Given the description of an element on the screen output the (x, y) to click on. 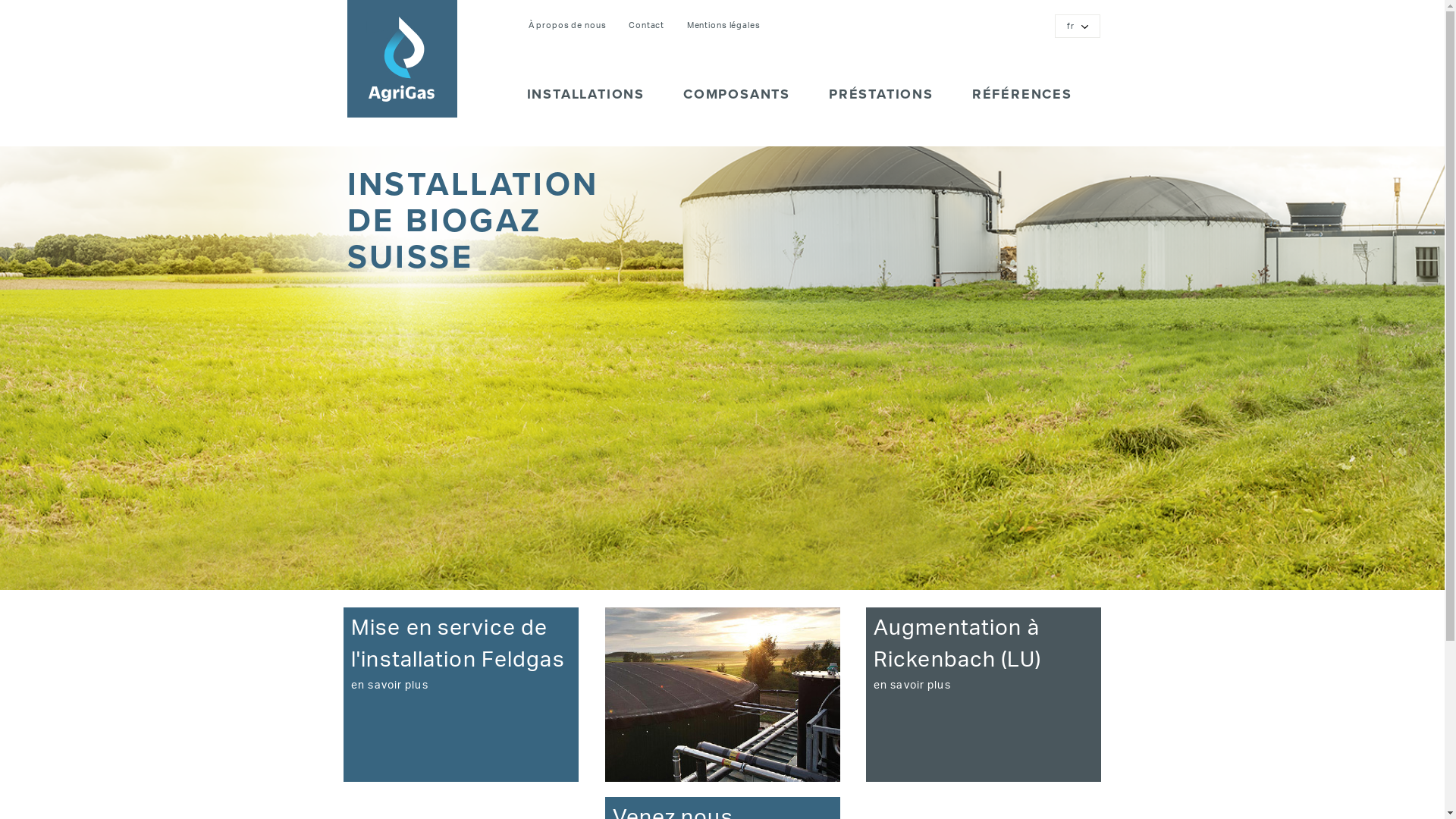
Contact Element type: text (646, 24)
COMPOSANTS Element type: text (734, 101)
INSTALLATIONS Element type: text (582, 101)
Mise en service de l'installation Feldgas
en savoir plus Element type: text (462, 700)
